Given the description of an element on the screen output the (x, y) to click on. 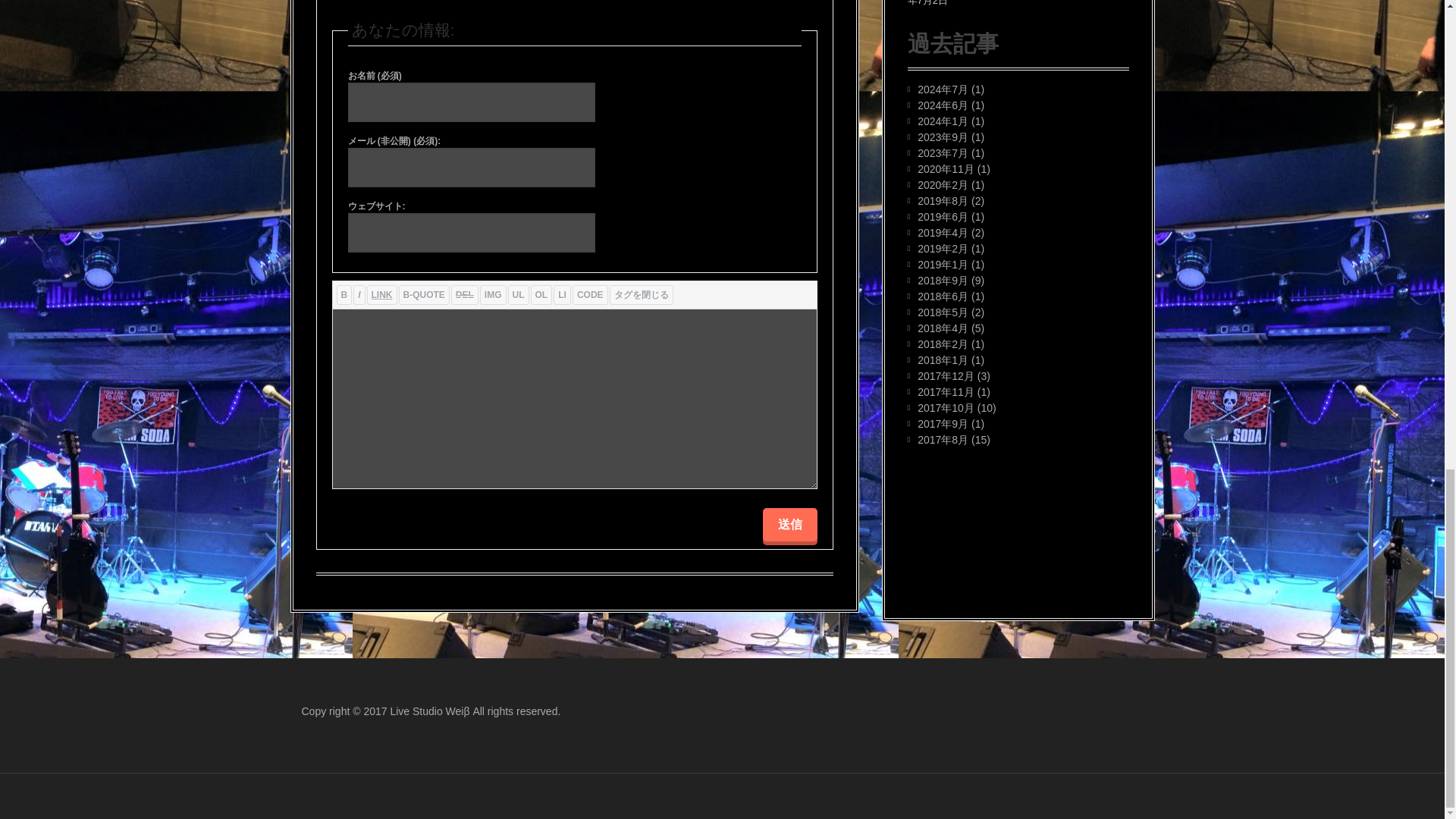
ol (542, 294)
code (590, 294)
ul (518, 294)
link (381, 294)
b-quote (423, 294)
del (465, 294)
img (493, 294)
